Given the description of an element on the screen output the (x, y) to click on. 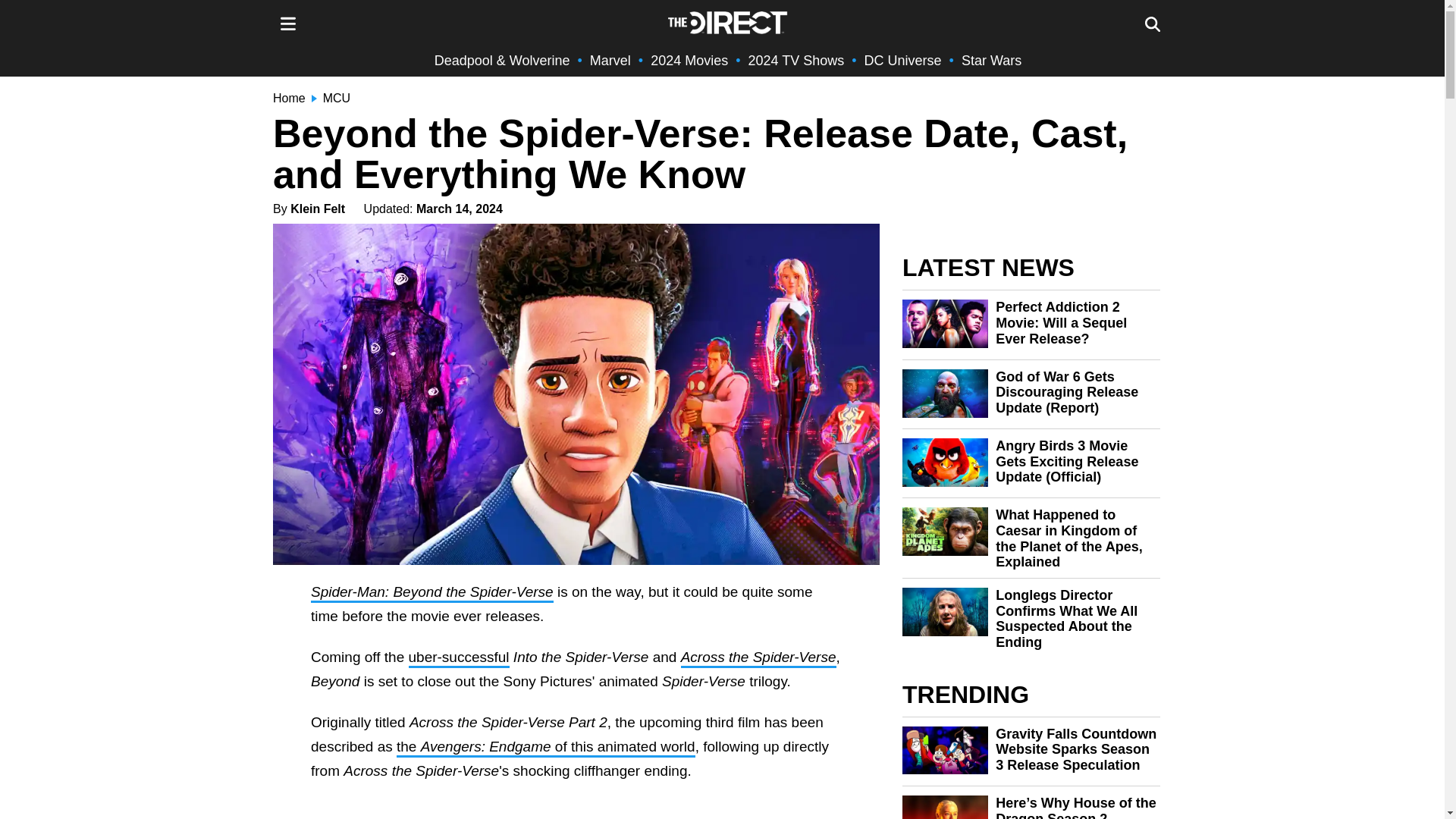
Star Wars (991, 60)
2024 TV Shows (796, 60)
Marvel (609, 60)
DC Universe (903, 60)
2024 Movies (689, 60)
